Given the description of an element on the screen output the (x, y) to click on. 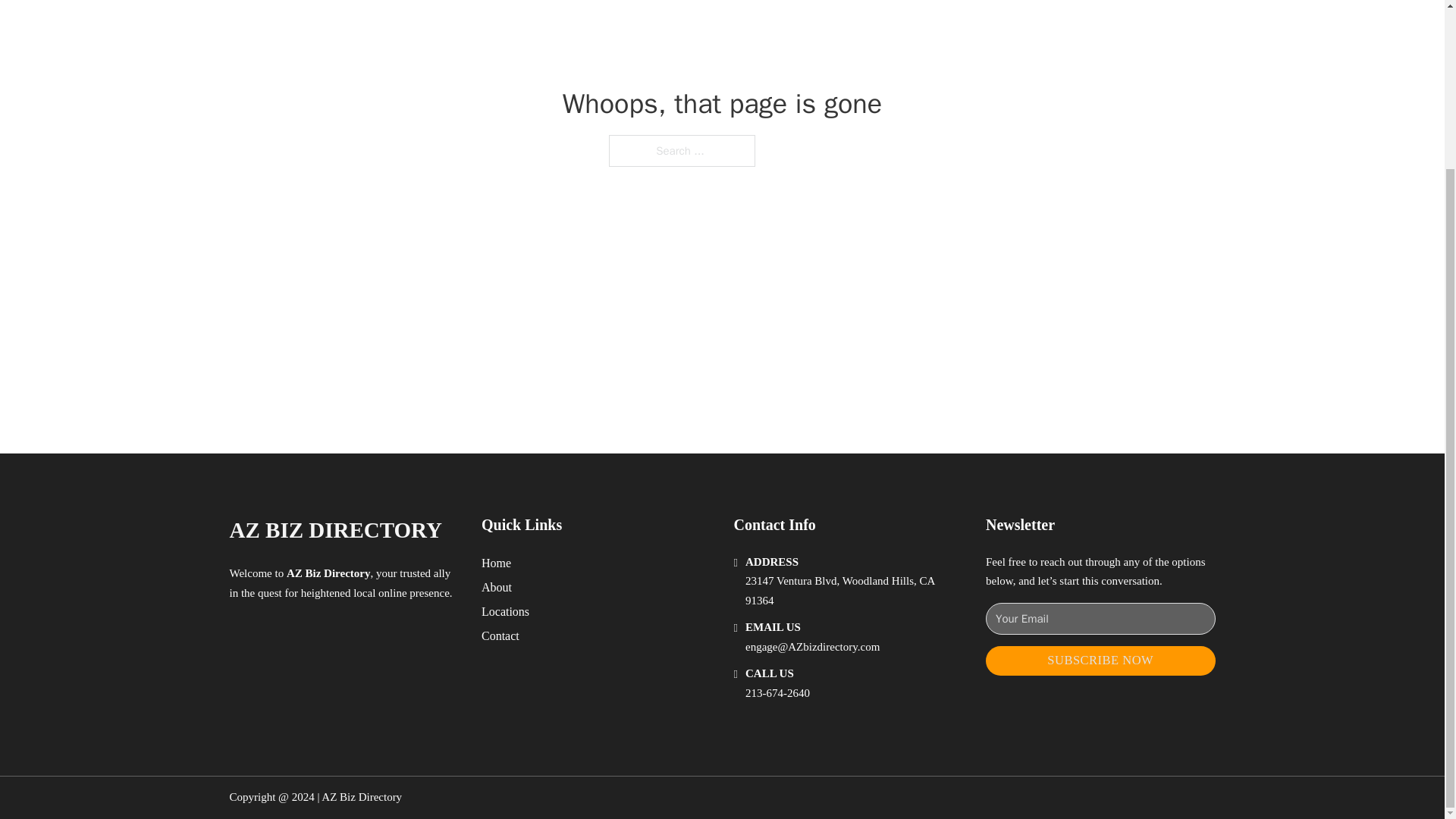
213-674-2640 (777, 693)
SUBSCRIBE NOW (1100, 660)
Home (496, 562)
Contact (500, 635)
Locations (505, 611)
About (496, 587)
AZ BIZ DIRECTORY (334, 529)
